Given the description of an element on the screen output the (x, y) to click on. 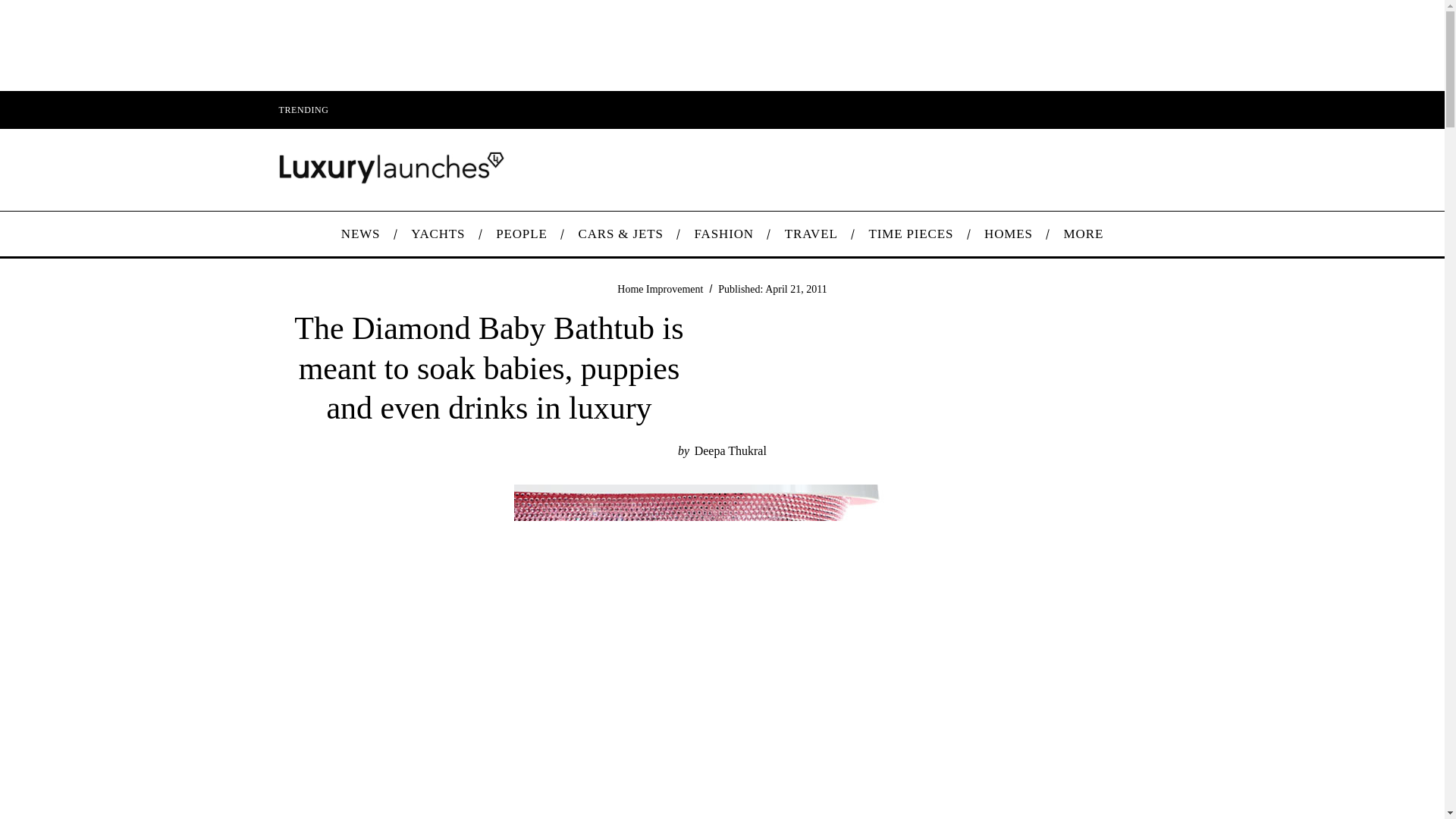
TIME PIECES (911, 233)
TRAVEL (810, 233)
HOMES (1008, 233)
Deepa Thukral (730, 450)
MORE (1083, 233)
FASHION (723, 233)
TRENDING (302, 109)
Home Improvement (660, 288)
